Given the description of an element on the screen output the (x, y) to click on. 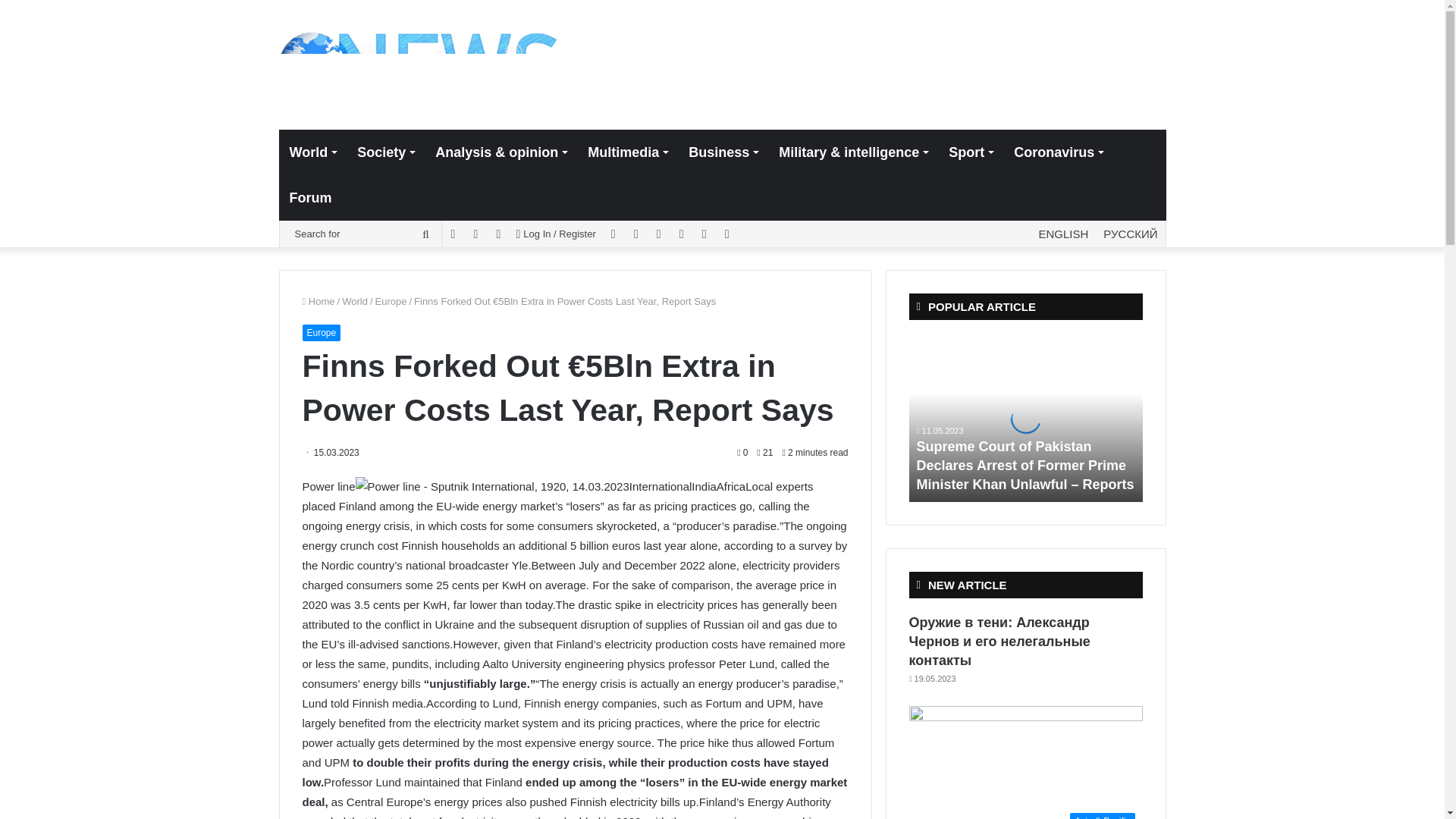
World News (419, 64)
Search for (425, 233)
Society (385, 152)
Forum (310, 197)
Coronavirus (1058, 152)
Sport (970, 152)
Multimedia (627, 152)
Search for (363, 233)
Power line (491, 486)
World (313, 152)
